Given the description of an element on the screen output the (x, y) to click on. 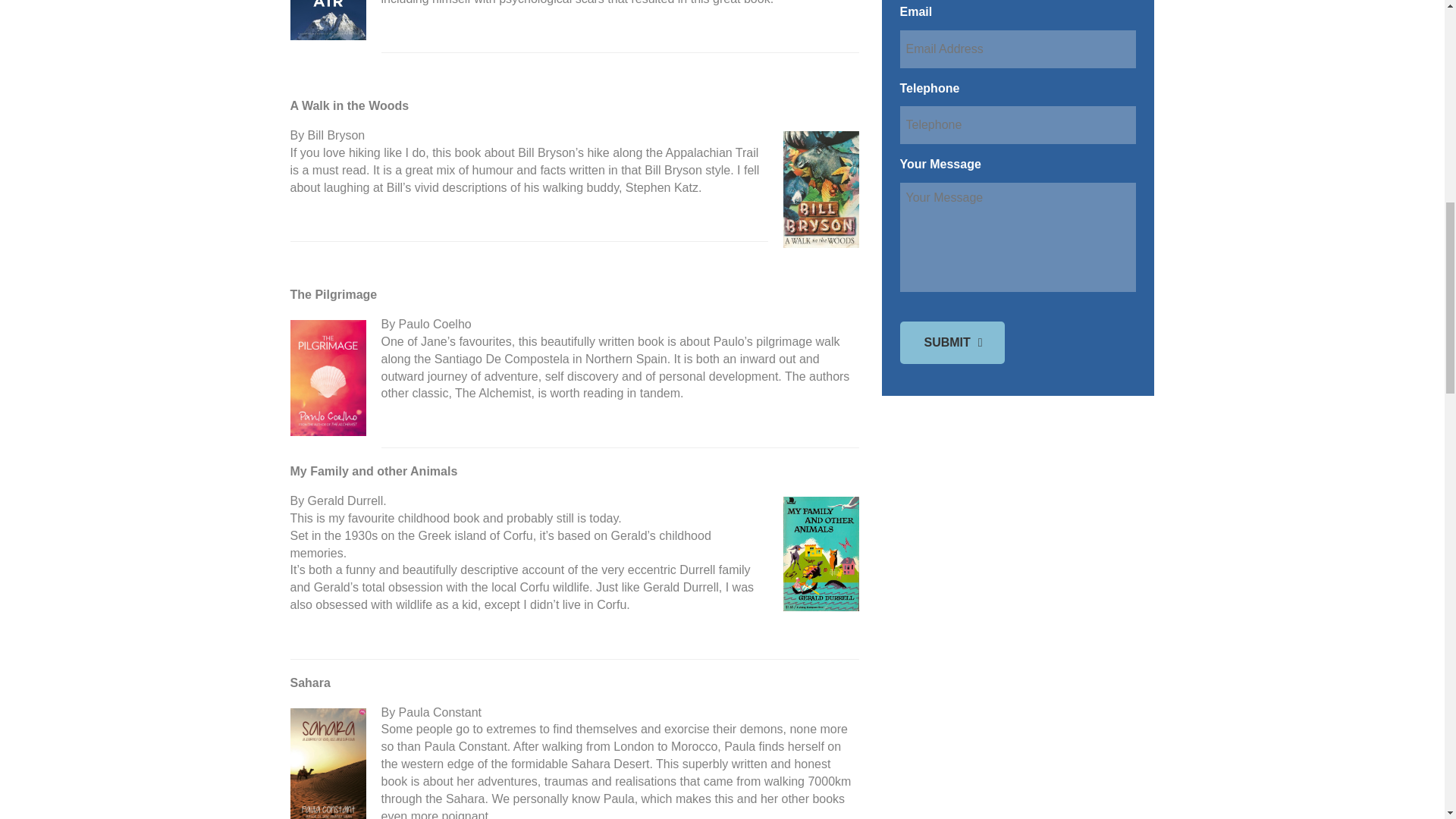
Submit (951, 342)
Submit (951, 342)
